Given the description of an element on the screen output the (x, y) to click on. 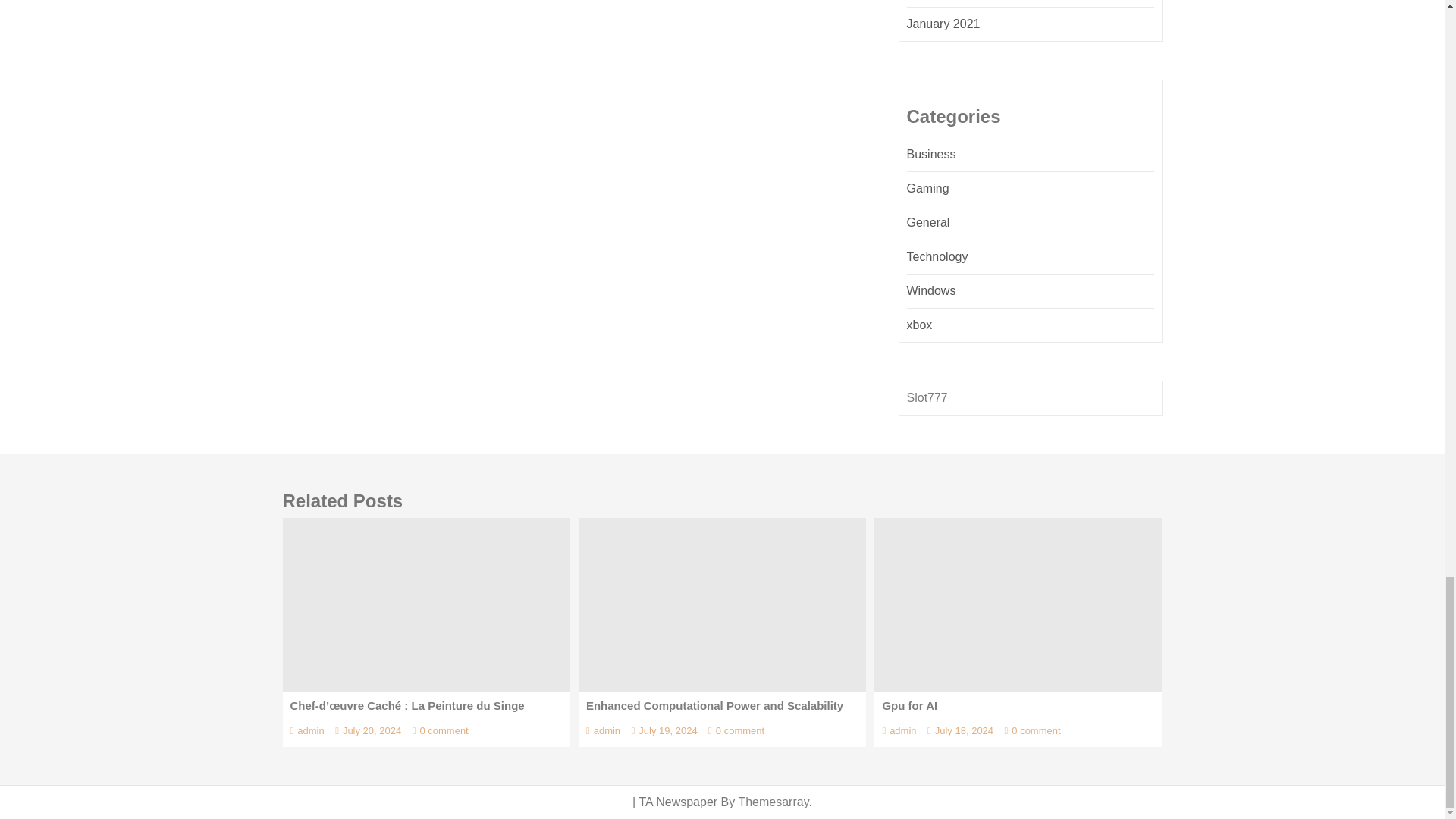
Enhanced Computational Power and Scalability (722, 604)
Gpu for AI (1018, 604)
